Given the description of an element on the screen output the (x, y) to click on. 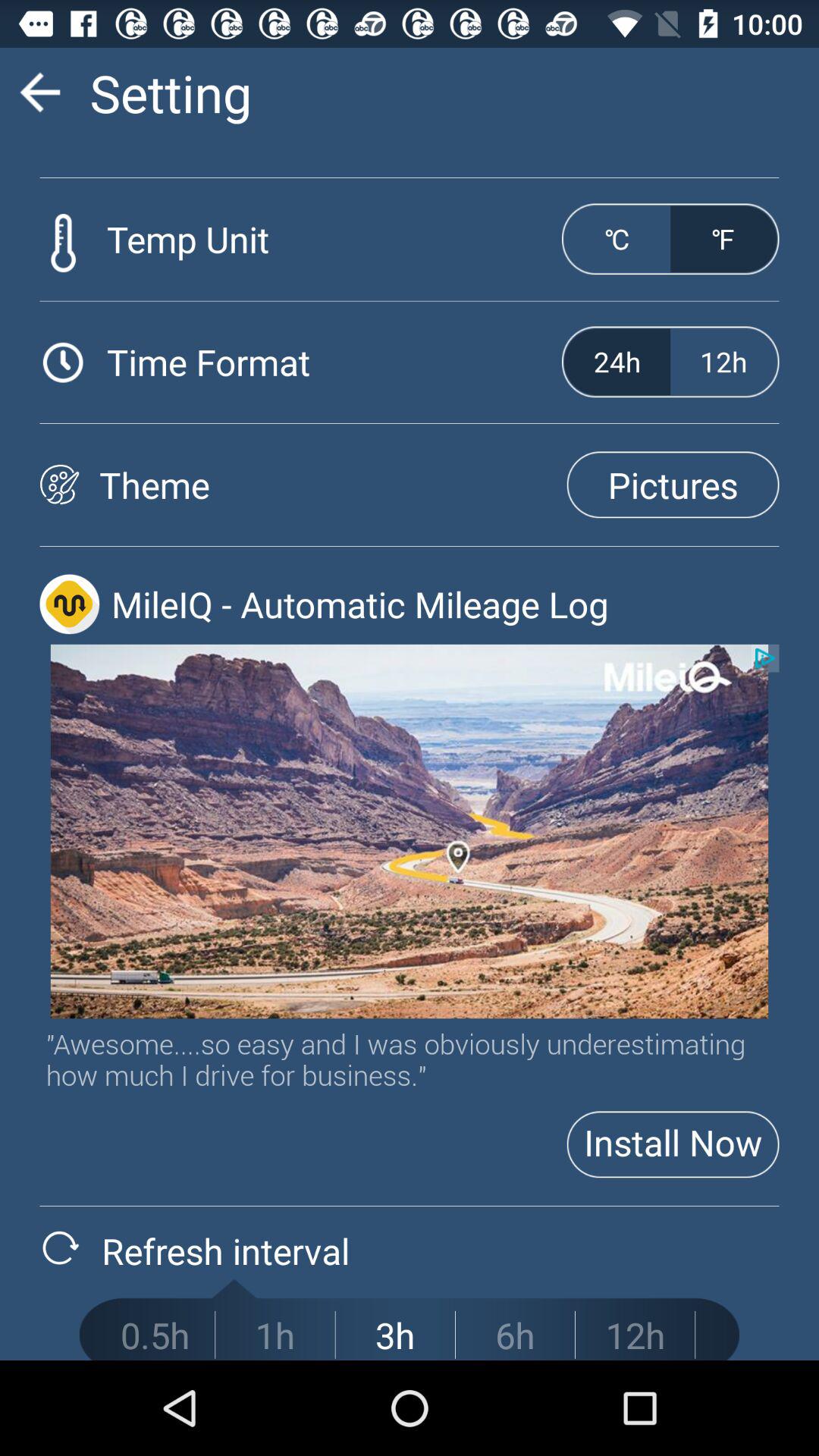
launch the item next to the temp unit (617, 238)
